Given the description of an element on the screen output the (x, y) to click on. 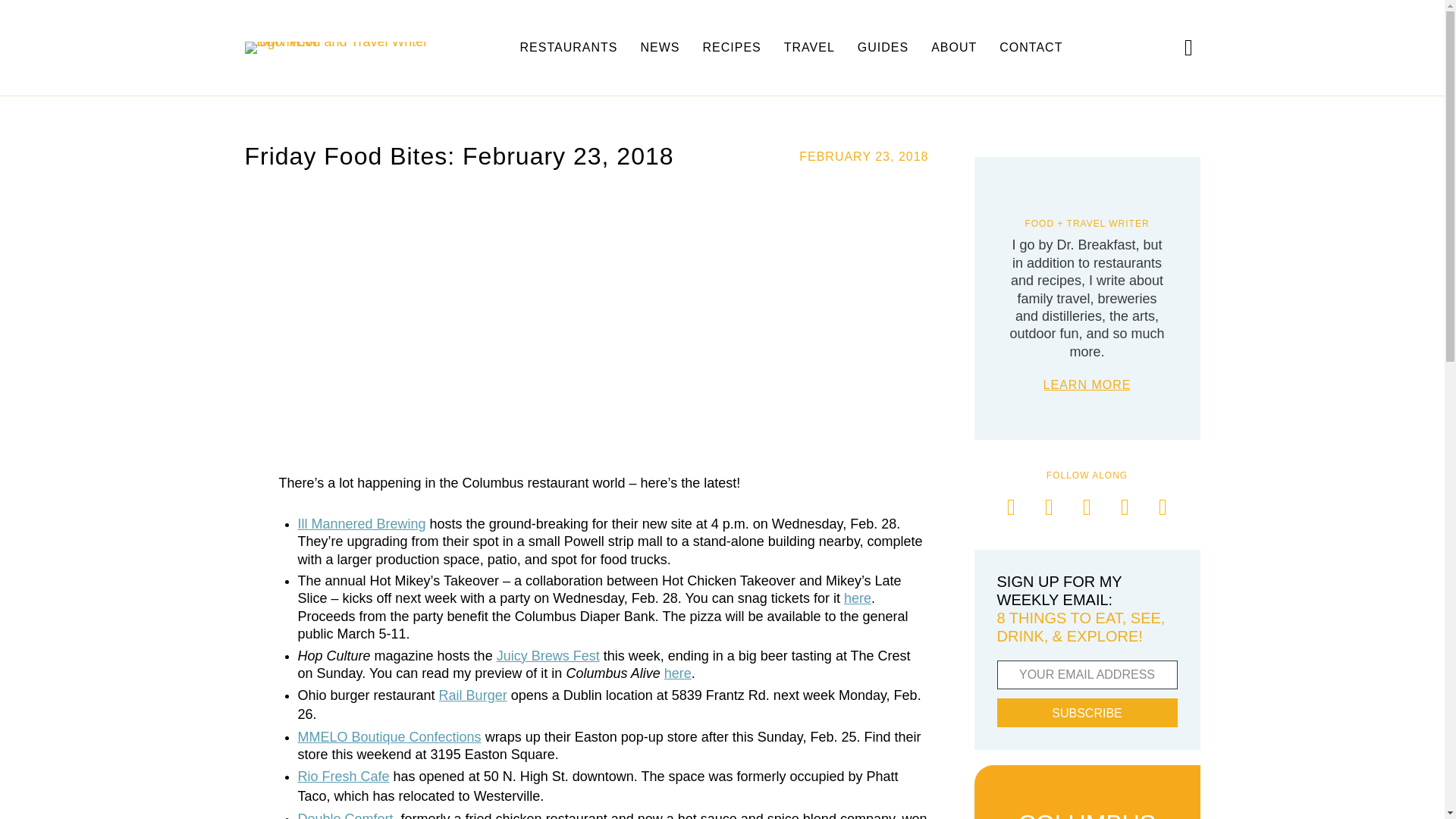
Juicy Brews Fest (547, 655)
NEWS (659, 47)
RECIPES (731, 47)
Rail Burger (472, 694)
TRAVEL (809, 47)
here (857, 598)
CONTACT (1030, 47)
ABOUT (953, 47)
RESTAURANTS (569, 47)
here (677, 672)
Ill Mannered Brewing (361, 523)
BwN Food and Travel Writer logo NEW (342, 47)
GUIDES (882, 47)
Double Comfort (345, 815)
Rio Fresh Cafe (342, 776)
